Given the description of an element on the screen output the (x, y) to click on. 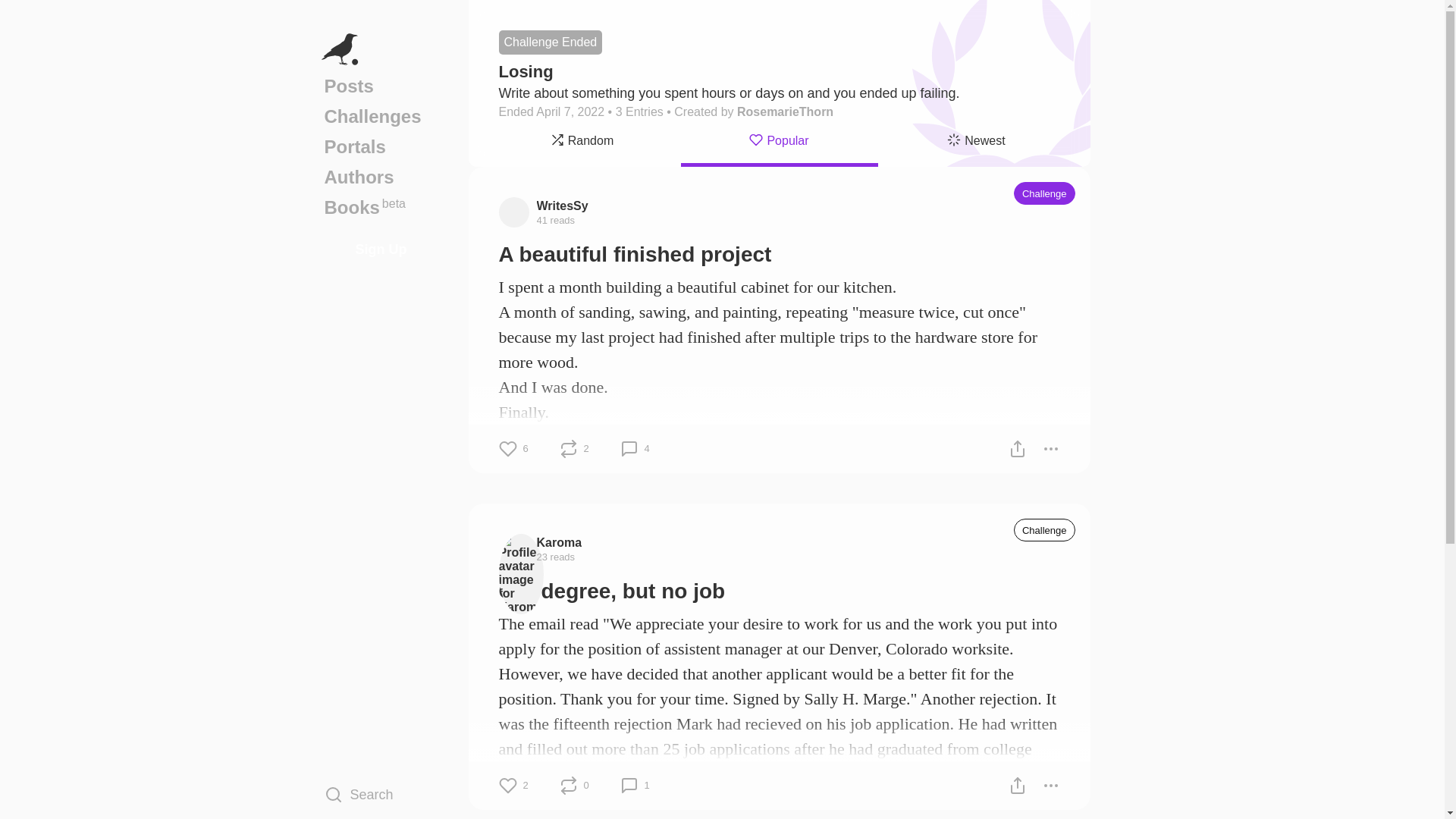
Karoma (559, 541)
Popular (779, 142)
Newest (976, 142)
Posts (381, 86)
Portals (381, 146)
Challenges (381, 116)
RosemarieThorn (784, 111)
Challenge (1044, 529)
WritesSy (562, 205)
Random (582, 142)
